Given the description of an element on the screen output the (x, y) to click on. 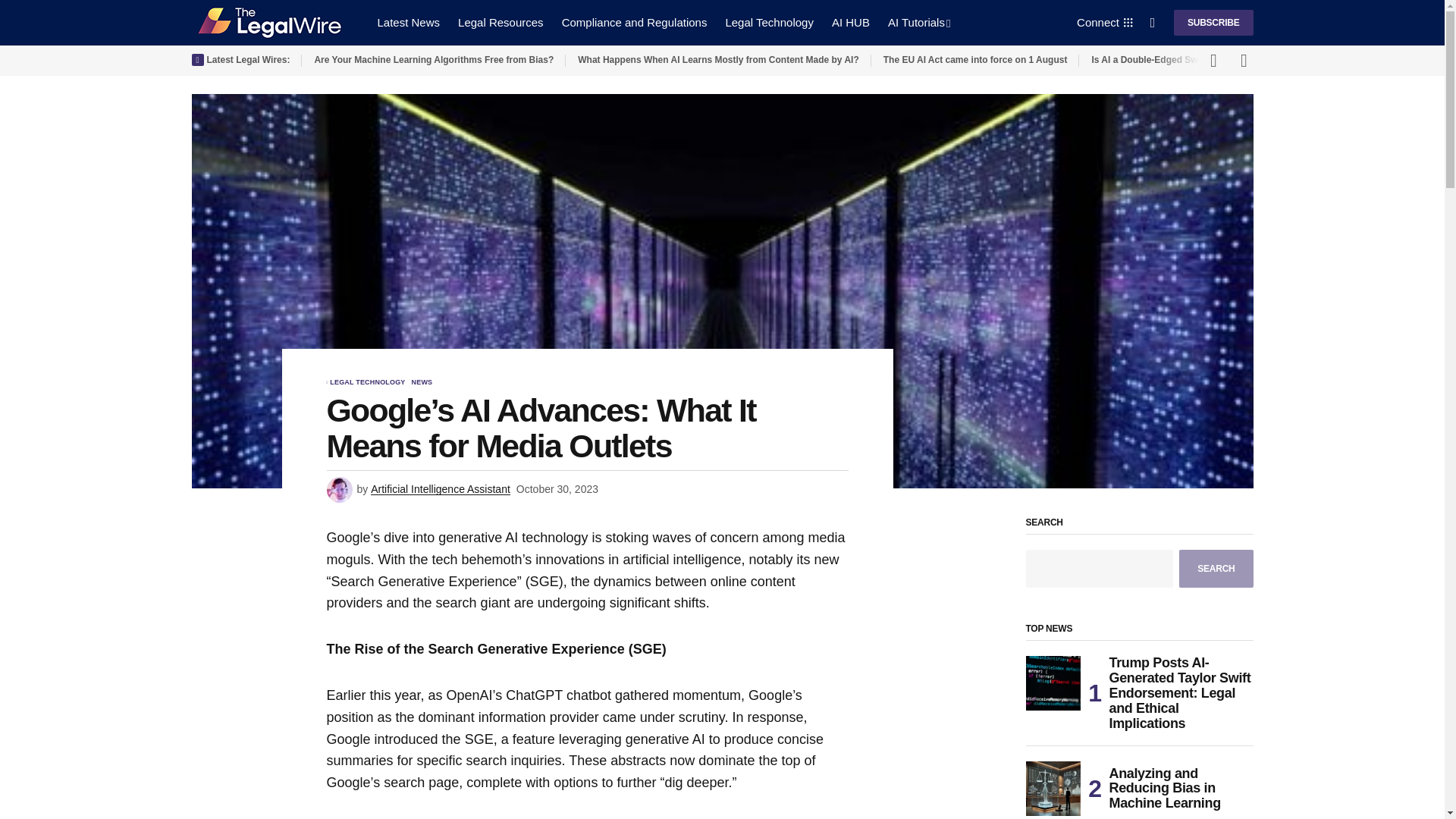
AI Tutorials (919, 22)
Legal Resources (500, 22)
AI HUB (850, 22)
Legal Technology (769, 22)
Compliance and Regulations (634, 22)
Latest News (408, 22)
